Given the description of an element on the screen output the (x, y) to click on. 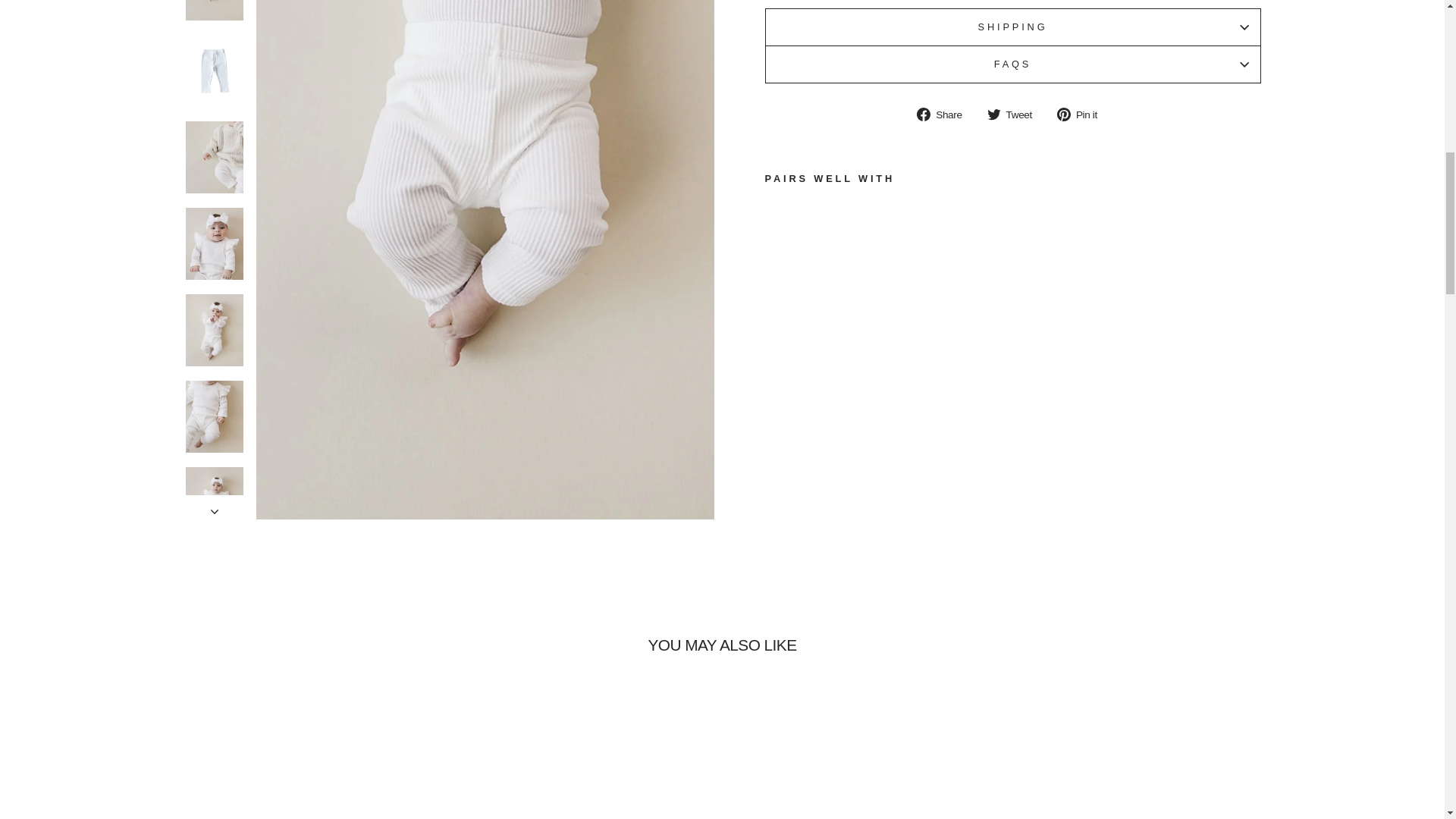
Pin on Pinterest (1082, 114)
Tweet on Twitter (1015, 114)
Share on Facebook (944, 114)
twitter (994, 114)
